Given the description of an element on the screen output the (x, y) to click on. 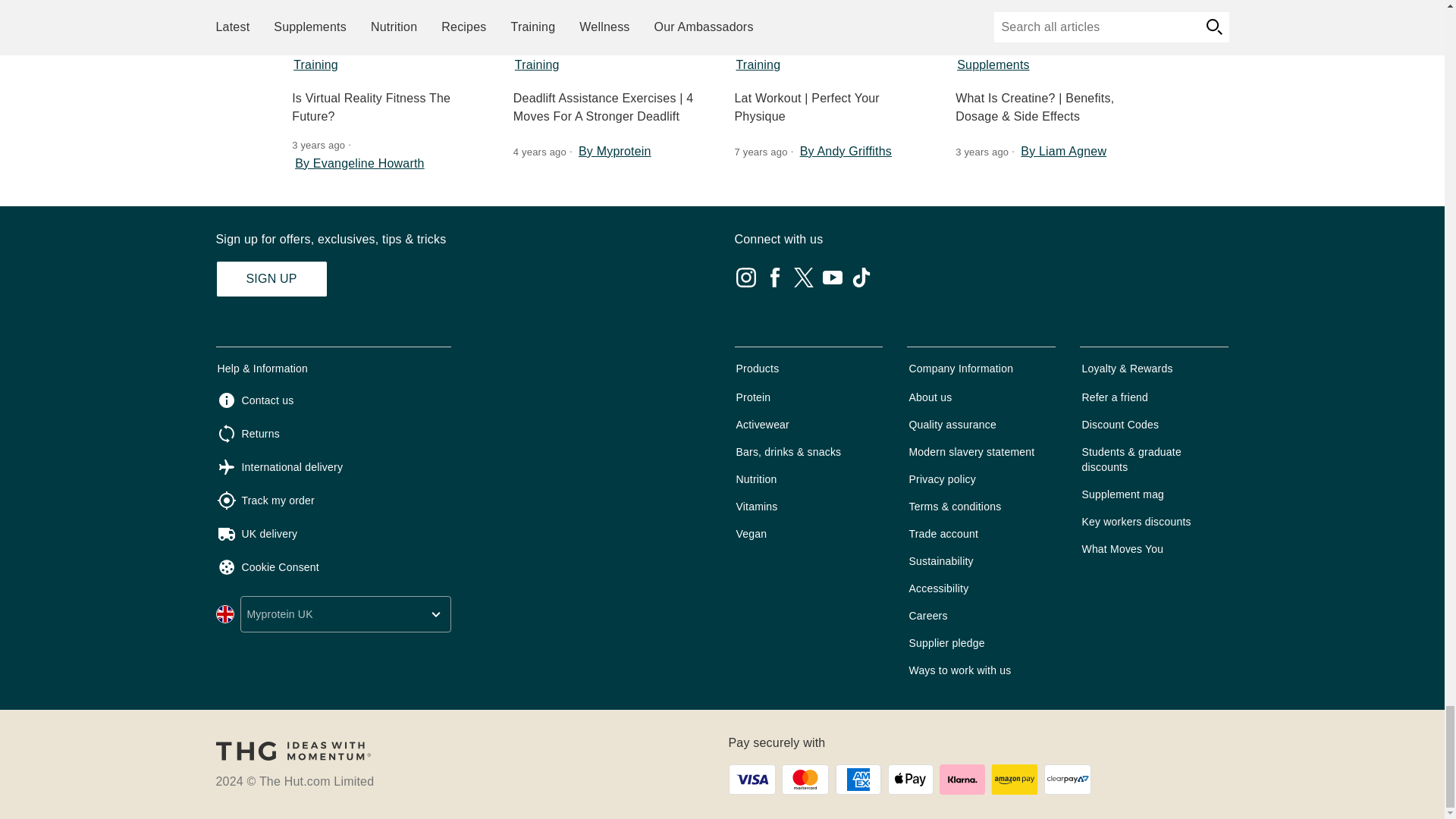
youtube (832, 277)
twitter (802, 277)
facebook (774, 277)
instagram (745, 277)
